Given the description of an element on the screen output the (x, y) to click on. 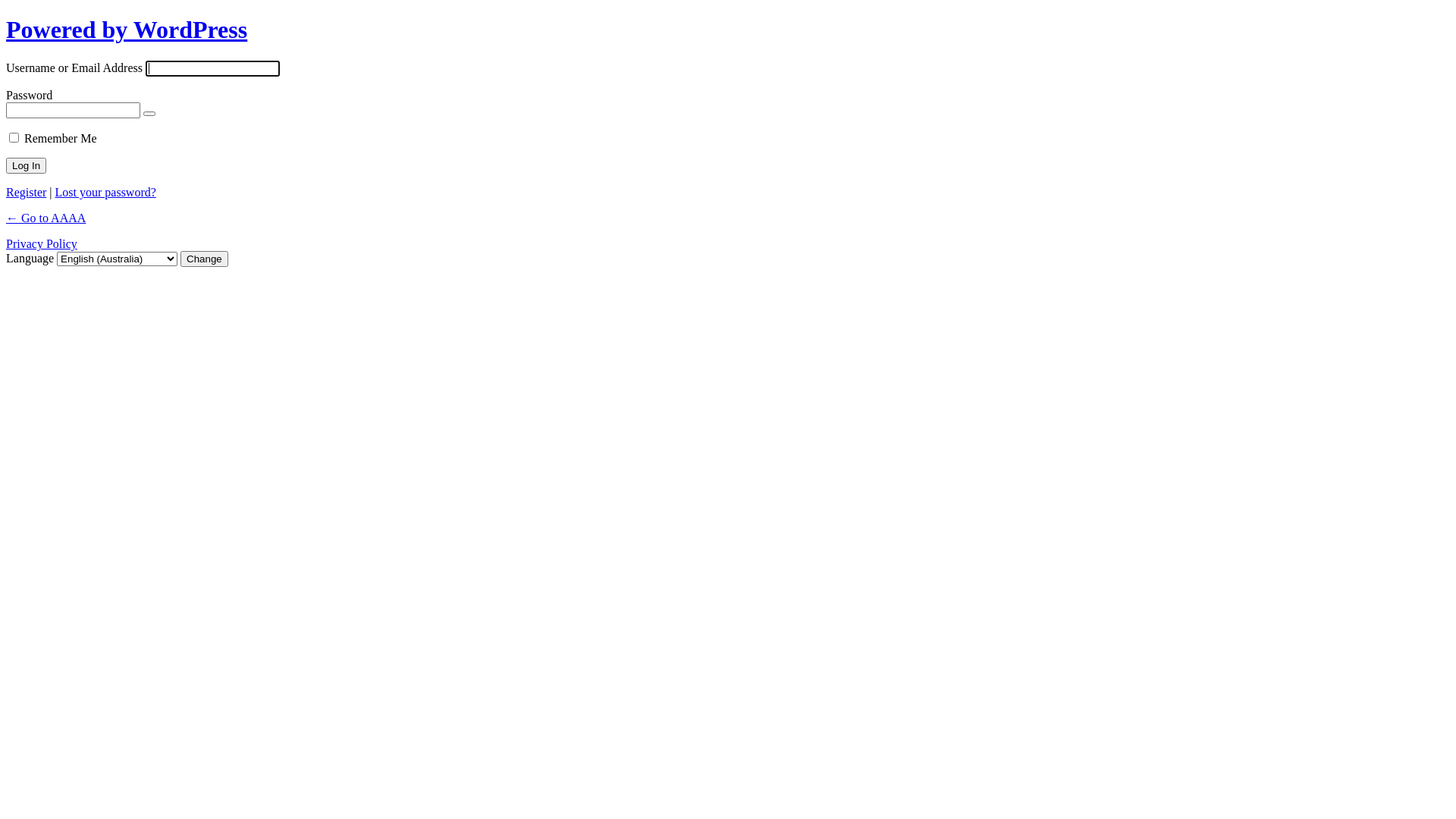
Log In Element type: text (26, 165)
Register Element type: text (26, 191)
Lost your password? Element type: text (105, 191)
Change Element type: text (204, 258)
Powered by WordPress Element type: text (126, 29)
Privacy Policy Element type: text (41, 243)
